Given the description of an element on the screen output the (x, y) to click on. 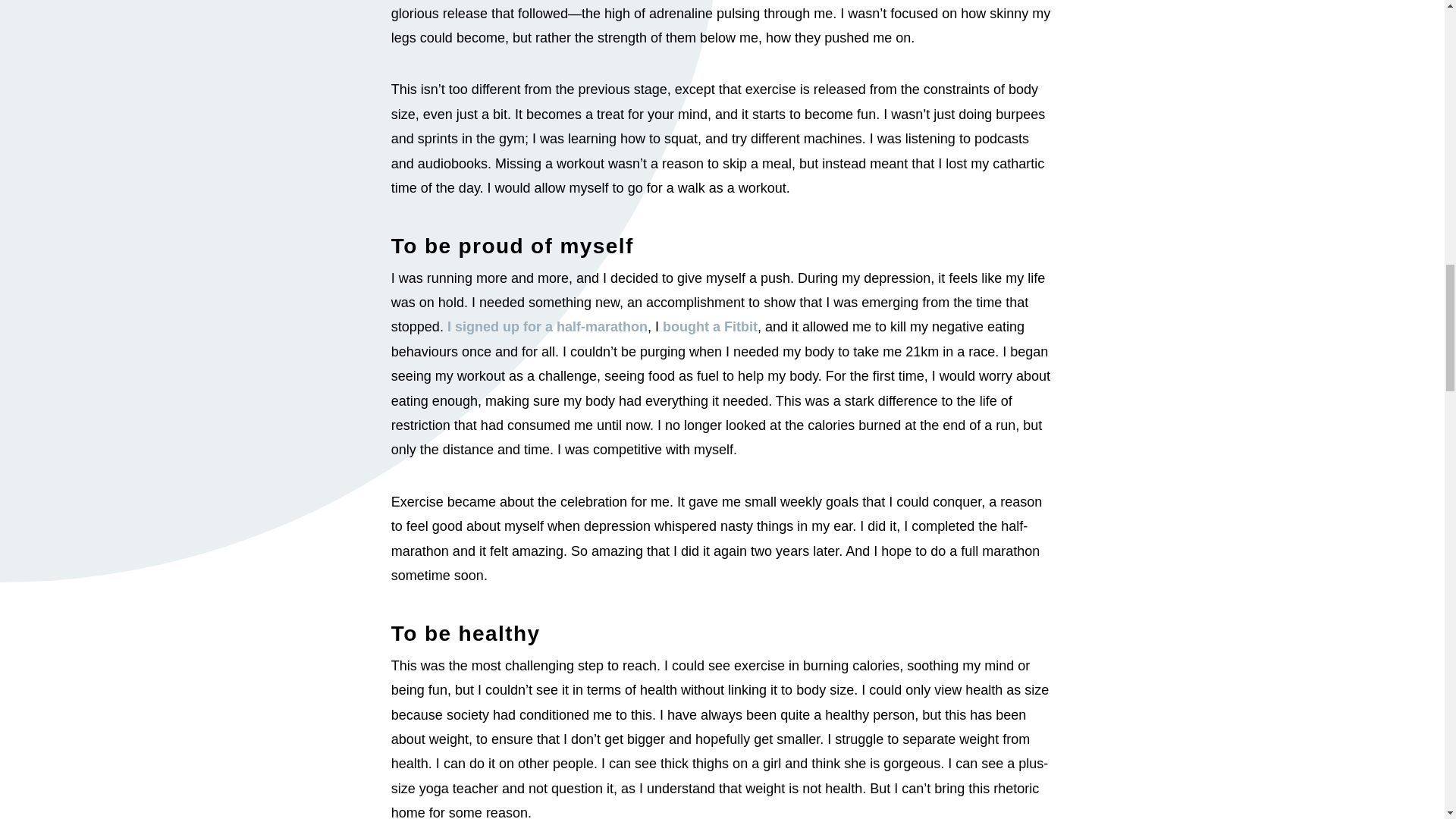
bought a Fitbit (709, 326)
I signed up for a half-marathon (546, 326)
